Given the description of an element on the screen output the (x, y) to click on. 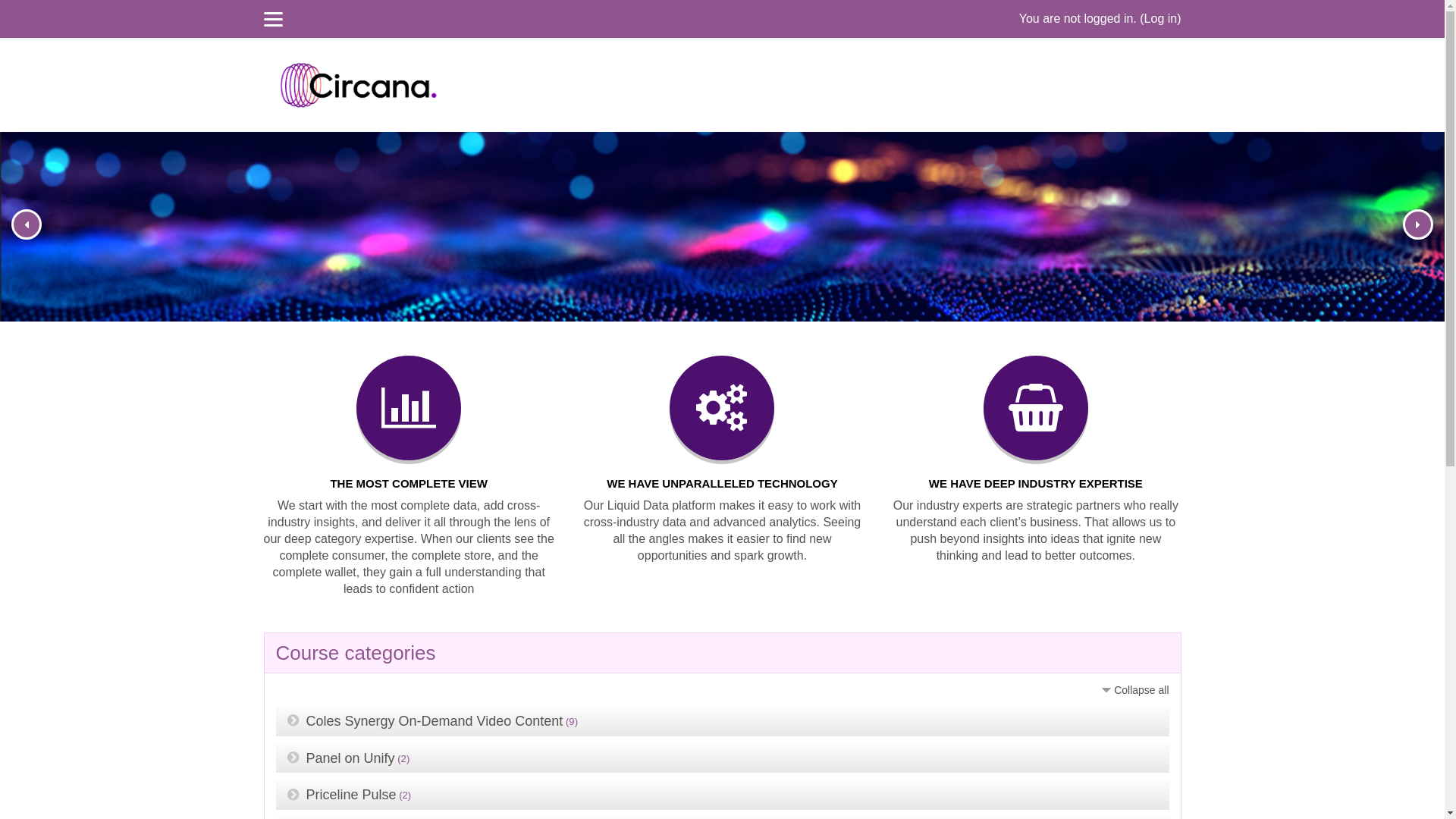
Priceline Pulse Element type: text (351, 794)
Collapse all Element type: text (1133, 690)
Coles Synergy On-Demand Video Content Element type: text (434, 720)
Panel on Unify Element type: text (350, 757)
Log in Element type: text (1160, 18)
